Given the description of an element on the screen output the (x, y) to click on. 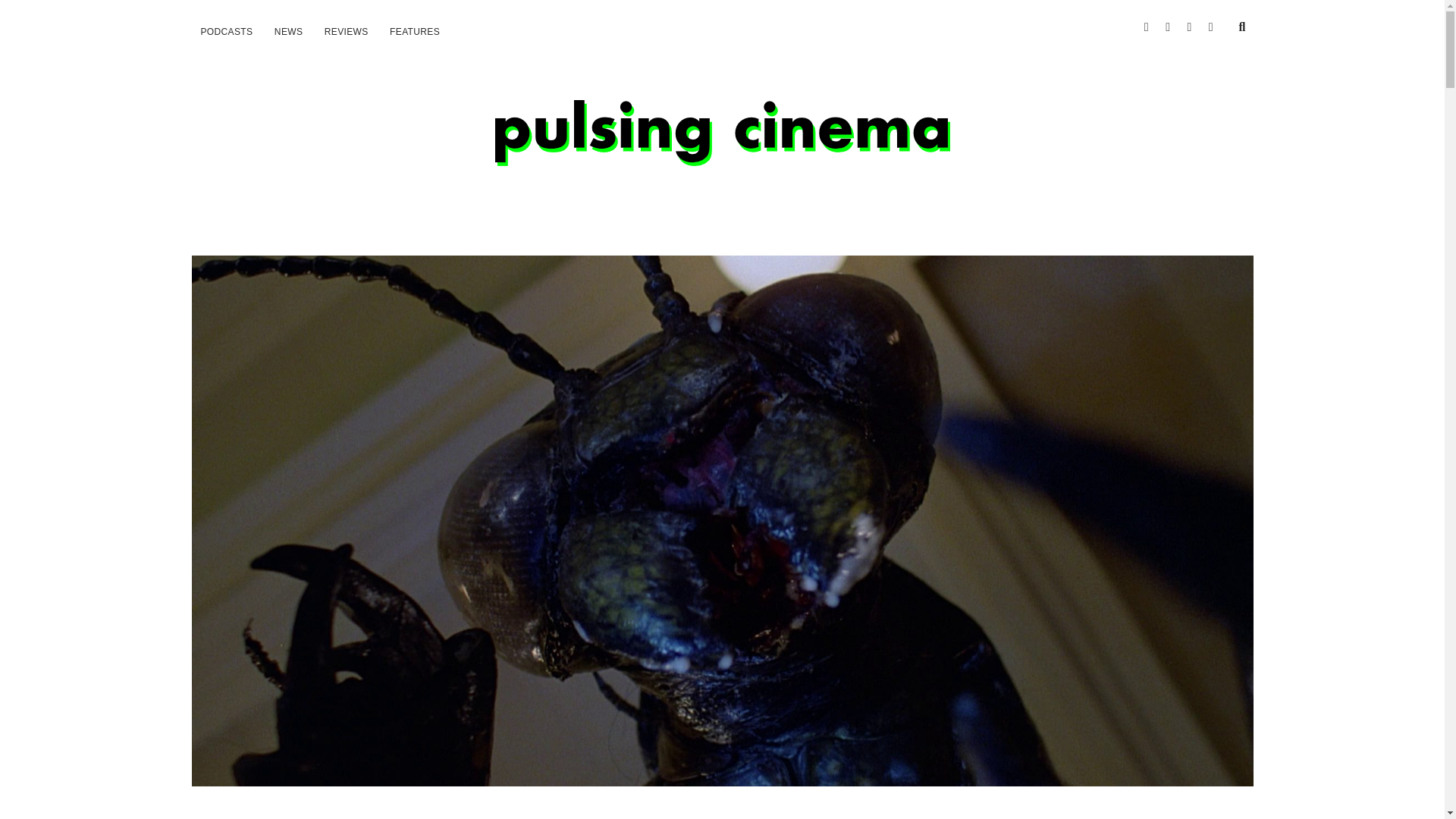
FEATURES (414, 31)
PODCASTS (226, 31)
NEWS (287, 31)
REVIEWS (346, 31)
Pulsing Cinema (722, 148)
